Given the description of an element on the screen output the (x, y) to click on. 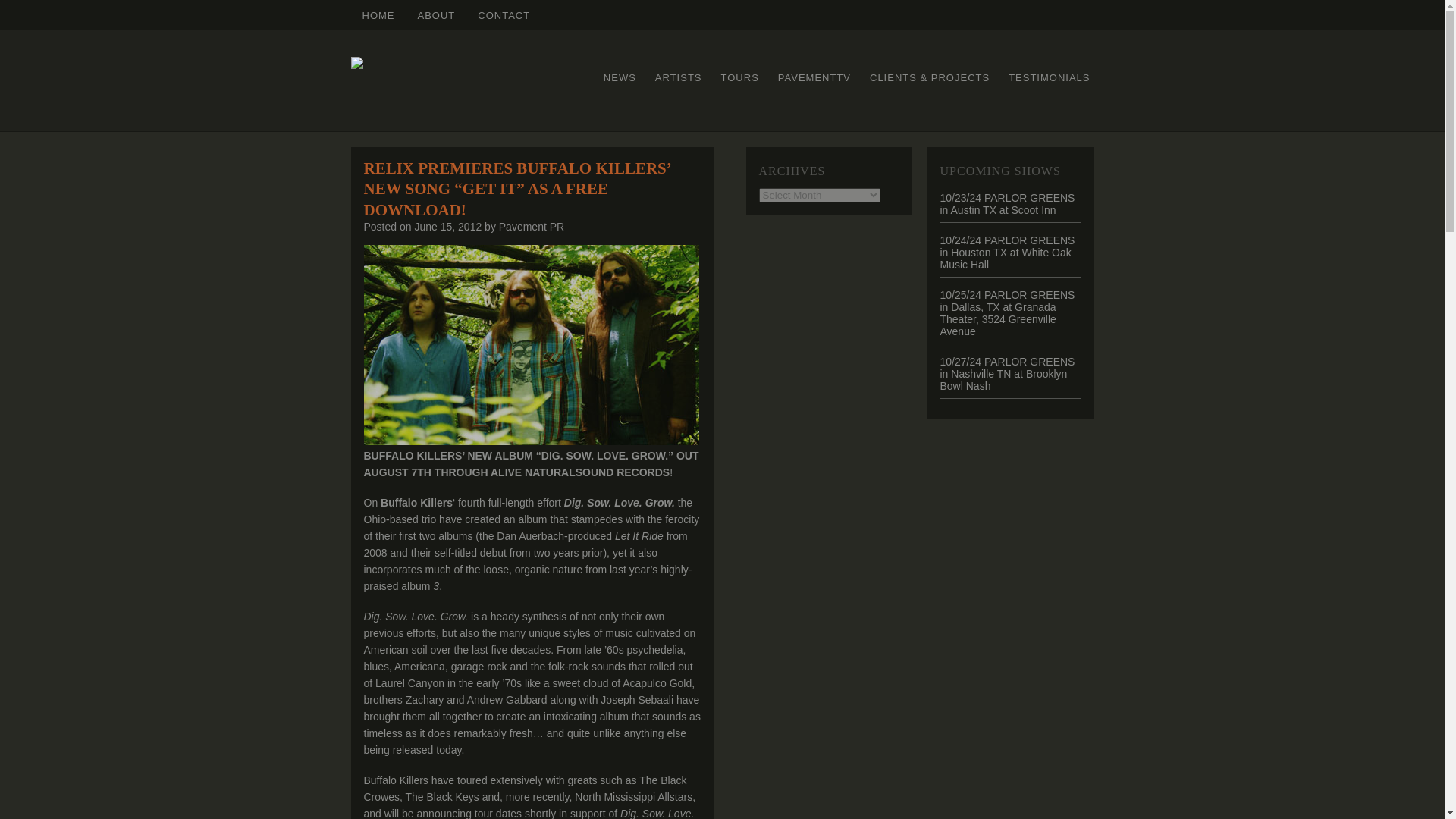
CONTACT (503, 15)
PAVEMENTTV (814, 76)
June 15, 2012 (447, 226)
4:06 pm (447, 226)
HOME (378, 15)
ABOUT (436, 15)
pavementpr.com (378, 15)
TESTIMONIALS (1048, 76)
NEWS (619, 76)
TOURS (739, 76)
